Given the description of an element on the screen output the (x, y) to click on. 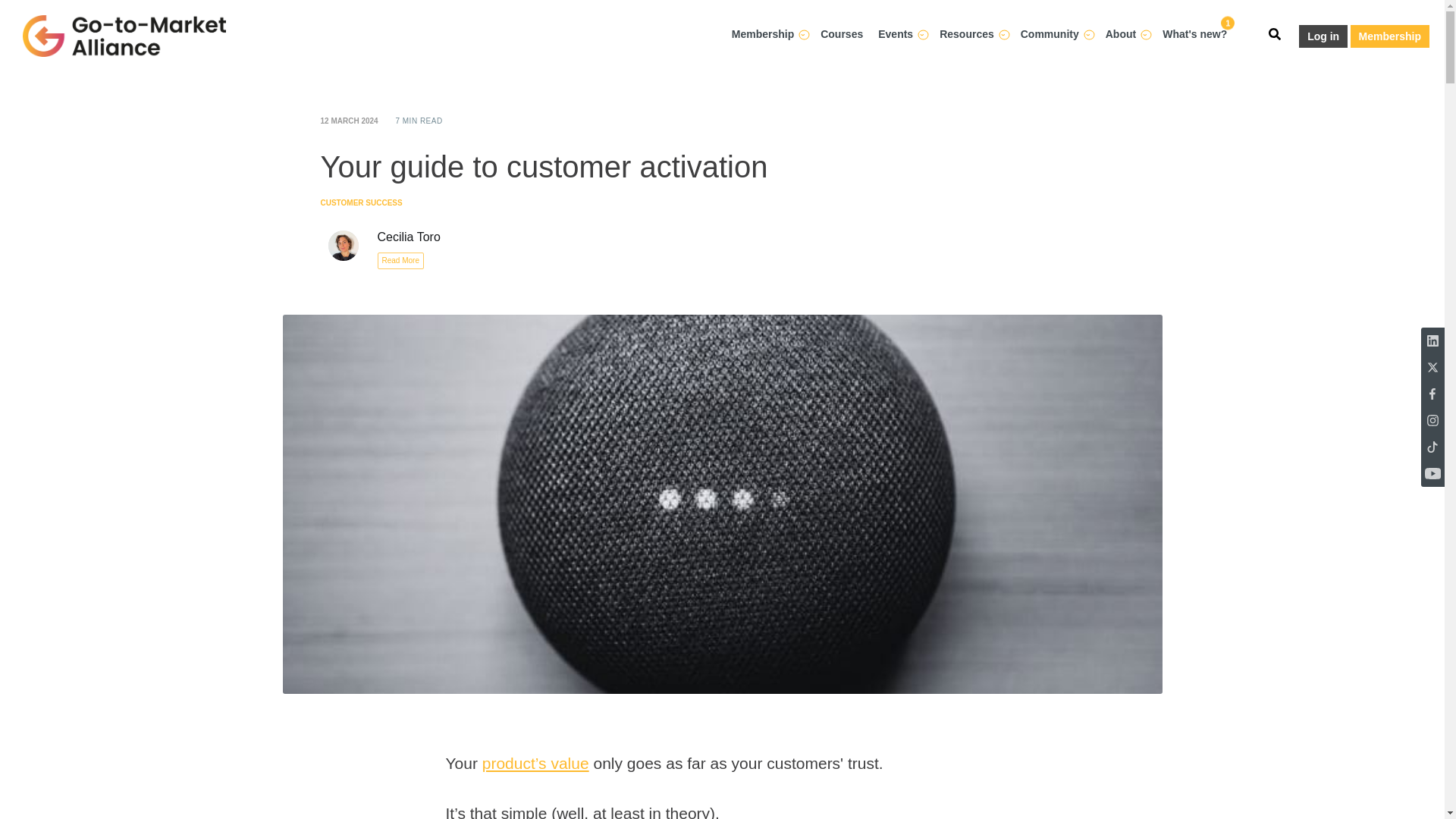
Membership (1390, 36)
Log in (1323, 36)
Courses (841, 30)
